Given the description of an element on the screen output the (x, y) to click on. 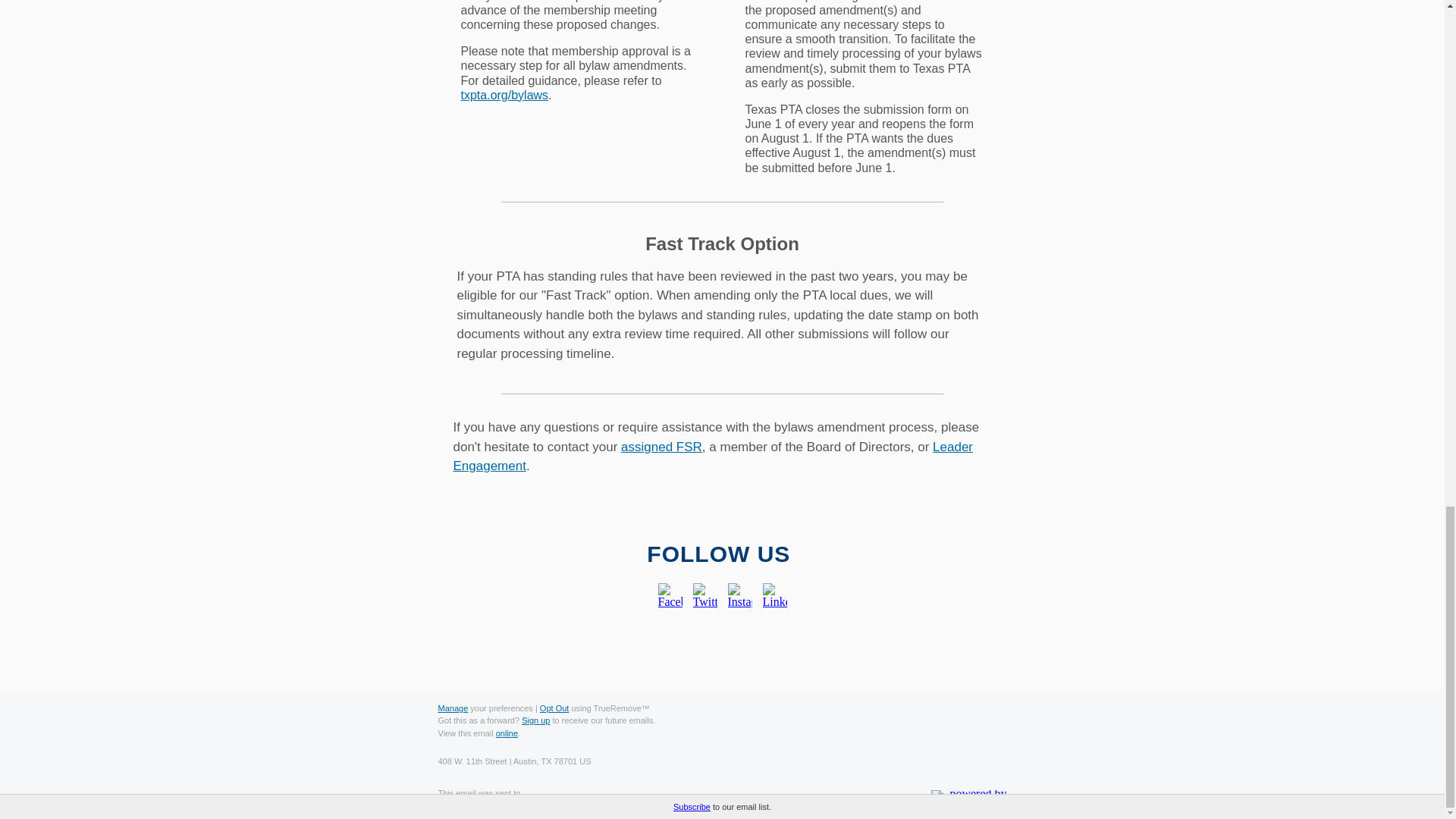
Sign up (535, 719)
assigned FSR (661, 446)
Manage (453, 707)
powered by emma (968, 797)
online (507, 732)
Leader Engagement (713, 456)
Instagram (740, 595)
Facebook (670, 595)
Twitter (705, 595)
LinkedIn (774, 595)
Opt Out (554, 707)
